Given the description of an element on the screen output the (x, y) to click on. 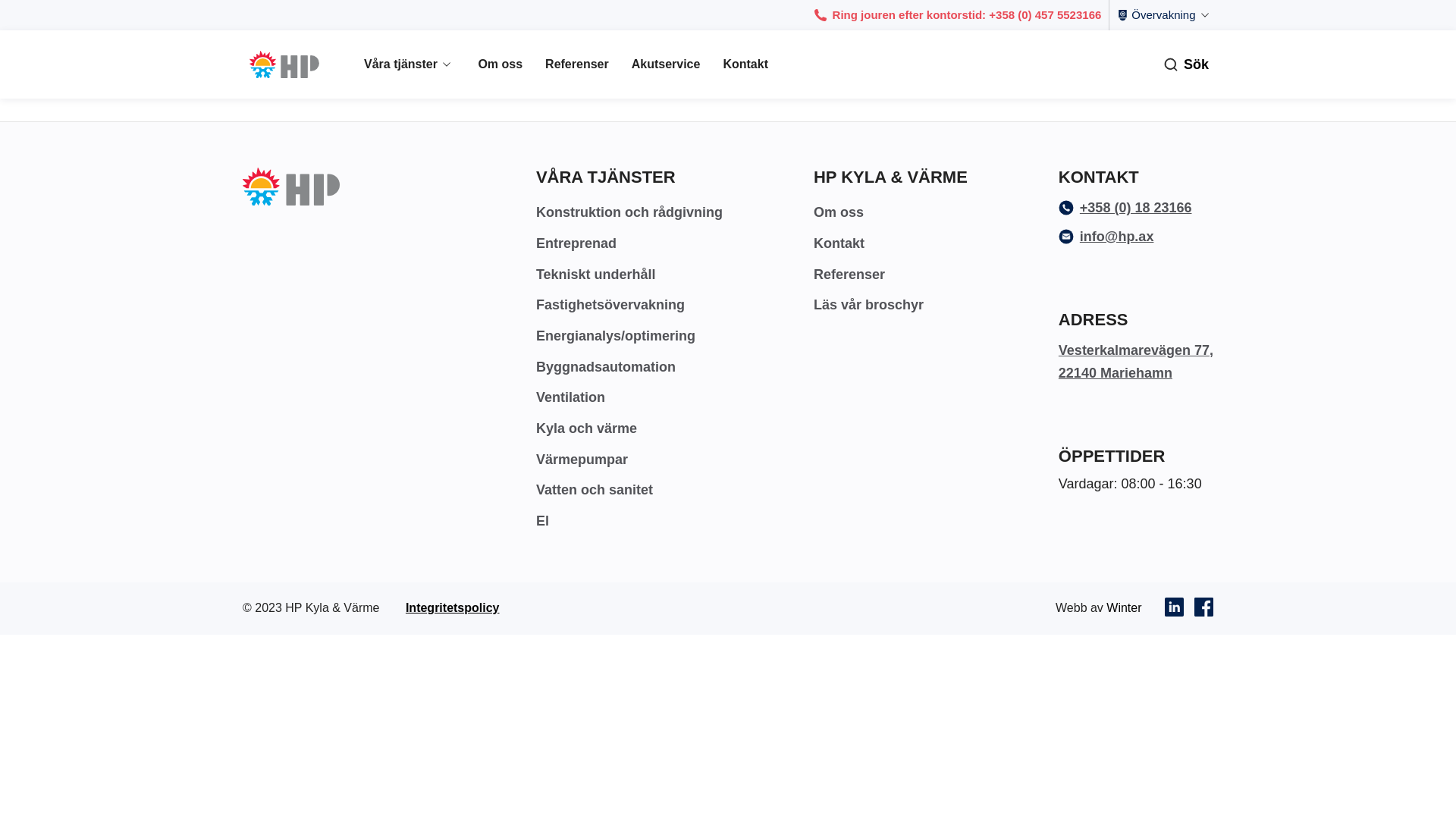
Integritetspolicy Element type: text (452, 607)
Kontakt Element type: text (745, 64)
info@hp.ax Element type: text (1106, 236)
Om oss Element type: text (499, 64)
El Element type: text (542, 520)
Vatten och sanitet Element type: text (594, 489)
Ventilation Element type: text (570, 396)
Winter Element type: text (1123, 607)
Entreprenad Element type: text (576, 243)
Byggnadsautomation Element type: text (605, 366)
Kontakt Element type: text (838, 243)
+358 (0) 18 23166 Element type: text (1125, 207)
Akutservice Element type: text (665, 64)
Referenser Element type: text (848, 274)
Energianalys/optimering Element type: text (615, 335)
Ring jouren efter kontorstid: +358 (0) 457 5523166 Element type: text (957, 14)
Om oss Element type: text (838, 211)
Referenser Element type: text (576, 64)
